Given the description of an element on the screen output the (x, y) to click on. 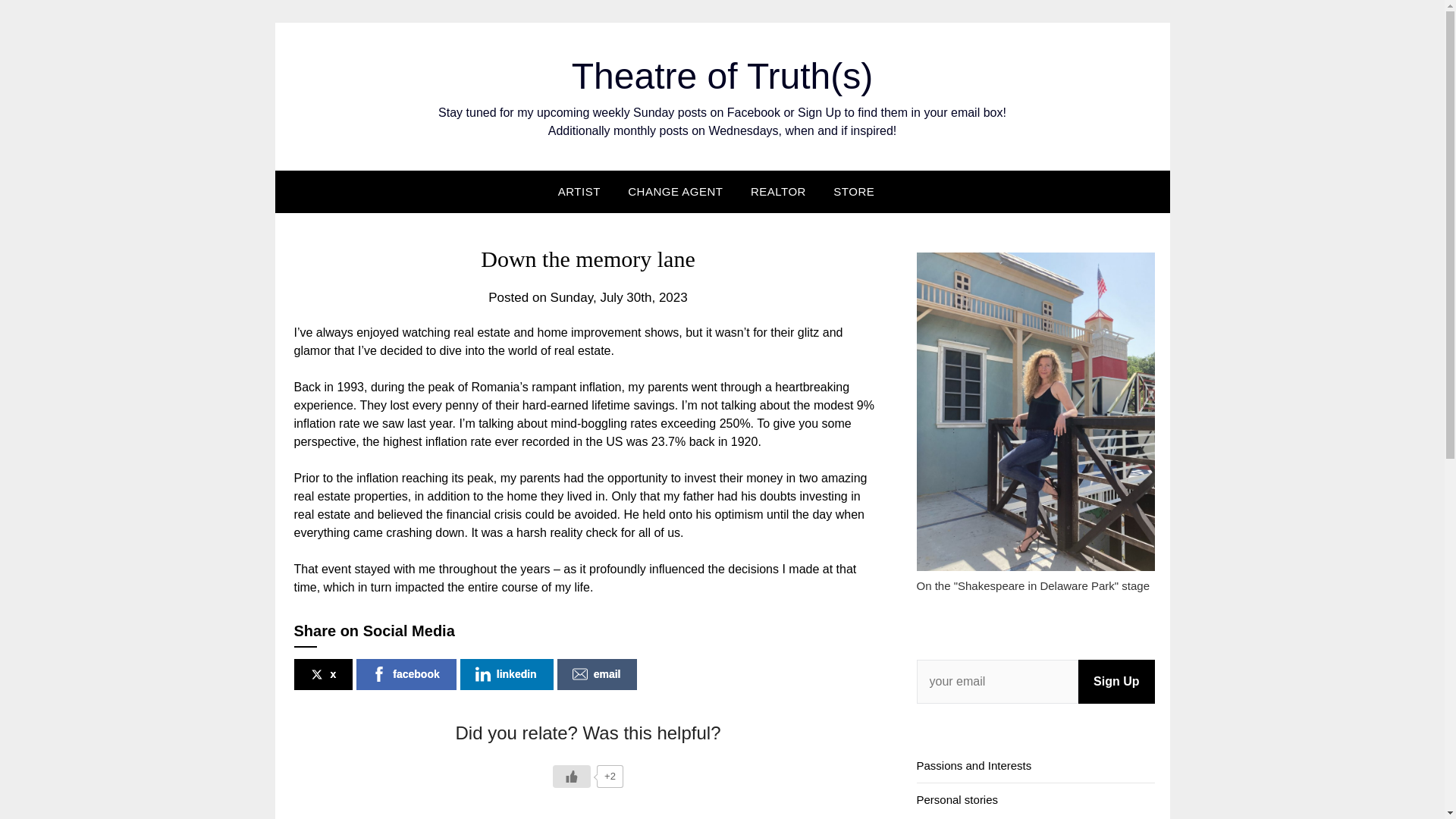
Sunday, July 30th, 2023 (618, 297)
REALTOR (778, 191)
ARTIST (584, 191)
email (597, 674)
Passions and Interests (972, 765)
Sign Up (1116, 681)
CHANGE AGENT (675, 191)
x (323, 674)
STORE (853, 191)
facebook (405, 674)
